Given the description of an element on the screen output the (x, y) to click on. 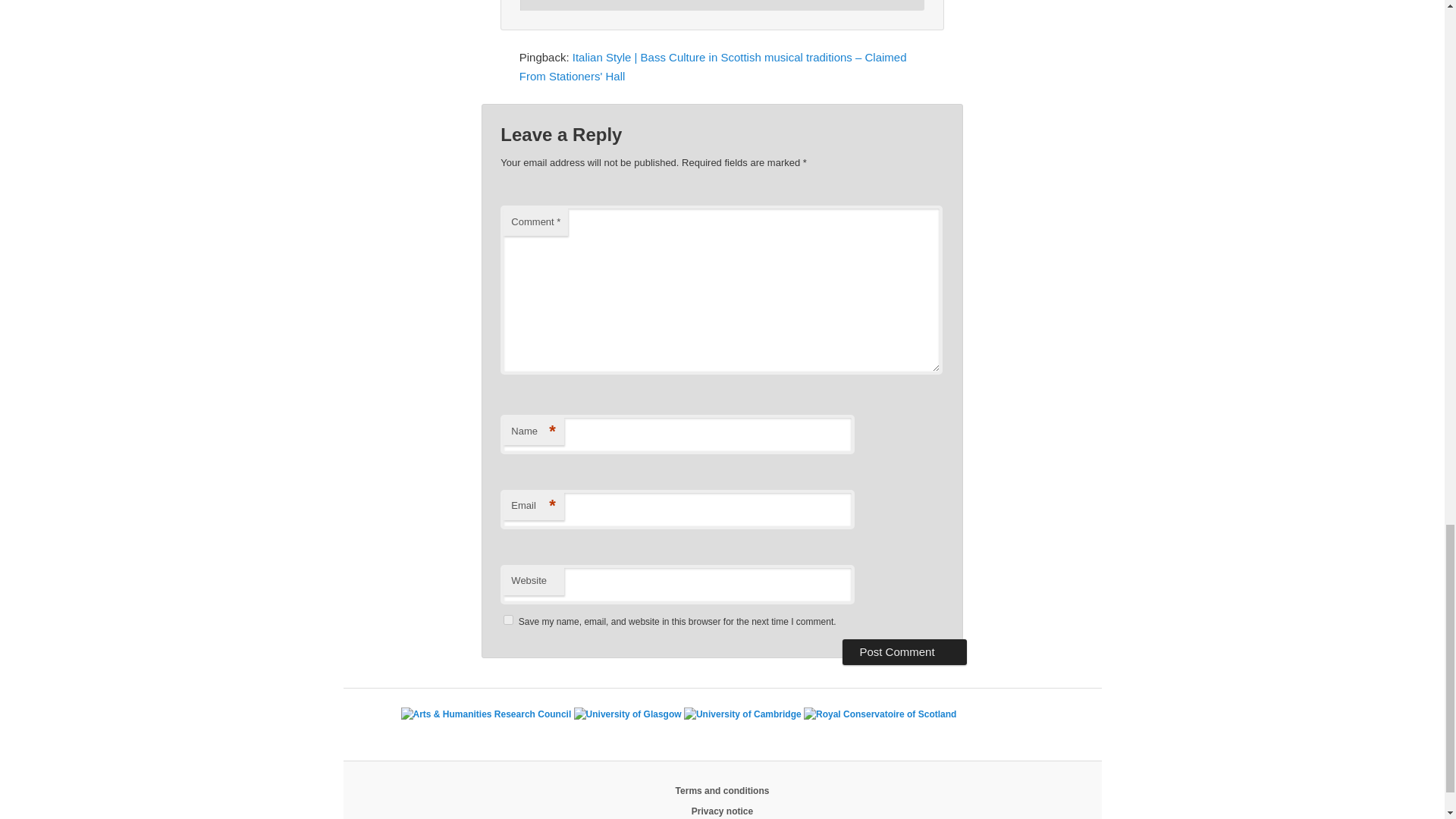
Privacy notice (721, 810)
Terms and conditions (722, 790)
Post Comment (904, 652)
Post Comment (904, 652)
yes (508, 619)
